Given the description of an element on the screen output the (x, y) to click on. 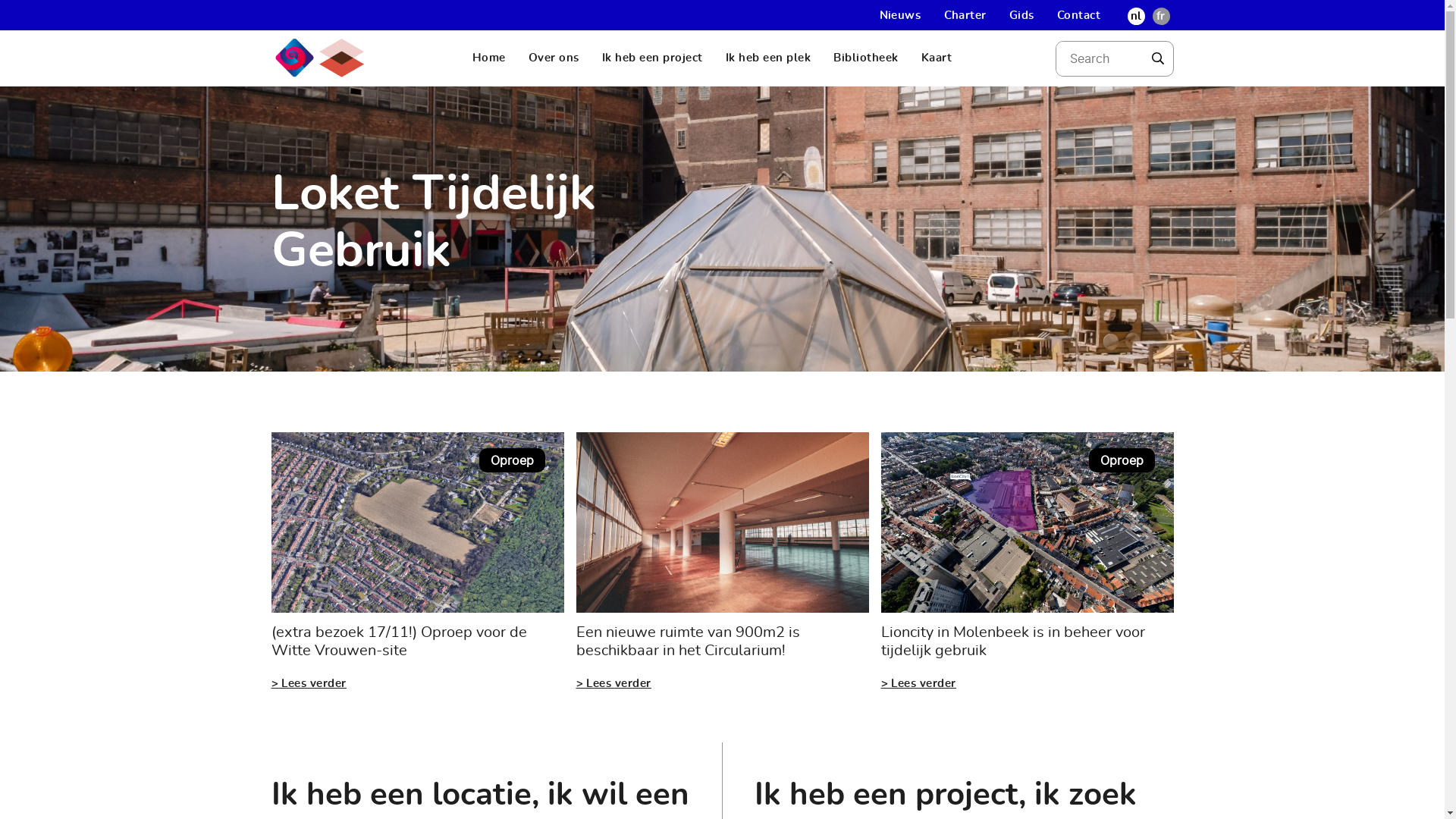
Nieuws Element type: text (900, 15)
Charter Element type: text (964, 15)
nl Element type: text (1135, 15)
Bibliotheek Element type: text (865, 58)
> Lees verder Element type: text (919, 683)
Ik heb een plek Element type: text (768, 58)
Over ons Element type: text (553, 58)
fr Element type: text (1160, 15)
Kaart Element type: text (936, 58)
Gids Element type: text (1021, 15)
Ik heb een project Element type: text (652, 58)
Home Element type: text (488, 58)
Contact Element type: text (1079, 15)
> Lees verder Element type: text (309, 683)
Guichet occupation temporaire Element type: text (320, 58)
> Lees verder Element type: text (614, 683)
